Given the description of an element on the screen output the (x, y) to click on. 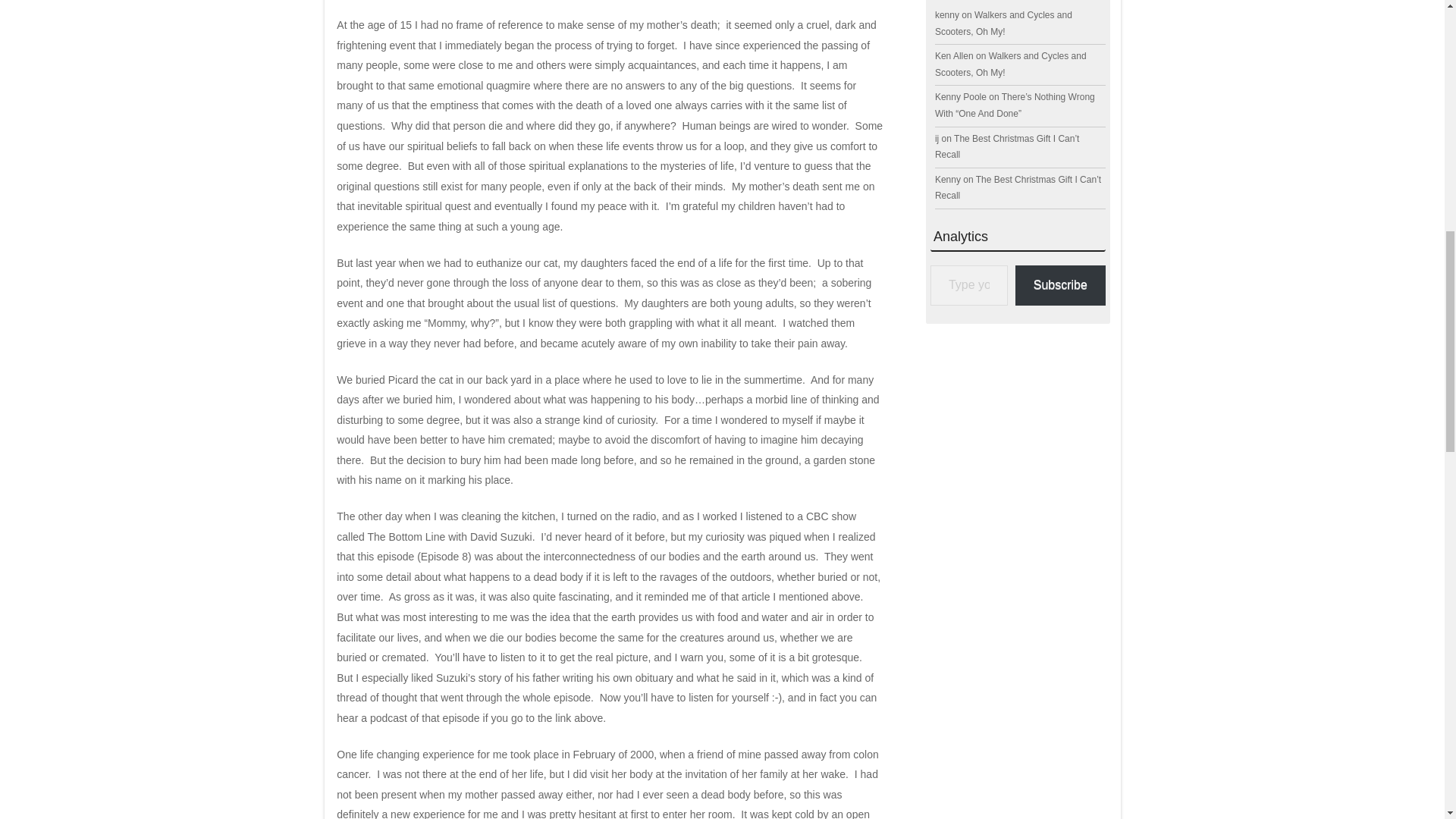
Walkers and Cycles and Scooters, Oh My! (1002, 22)
The Bottom Line (406, 536)
Please fill in this field. (968, 285)
